Given the description of an element on the screen output the (x, y) to click on. 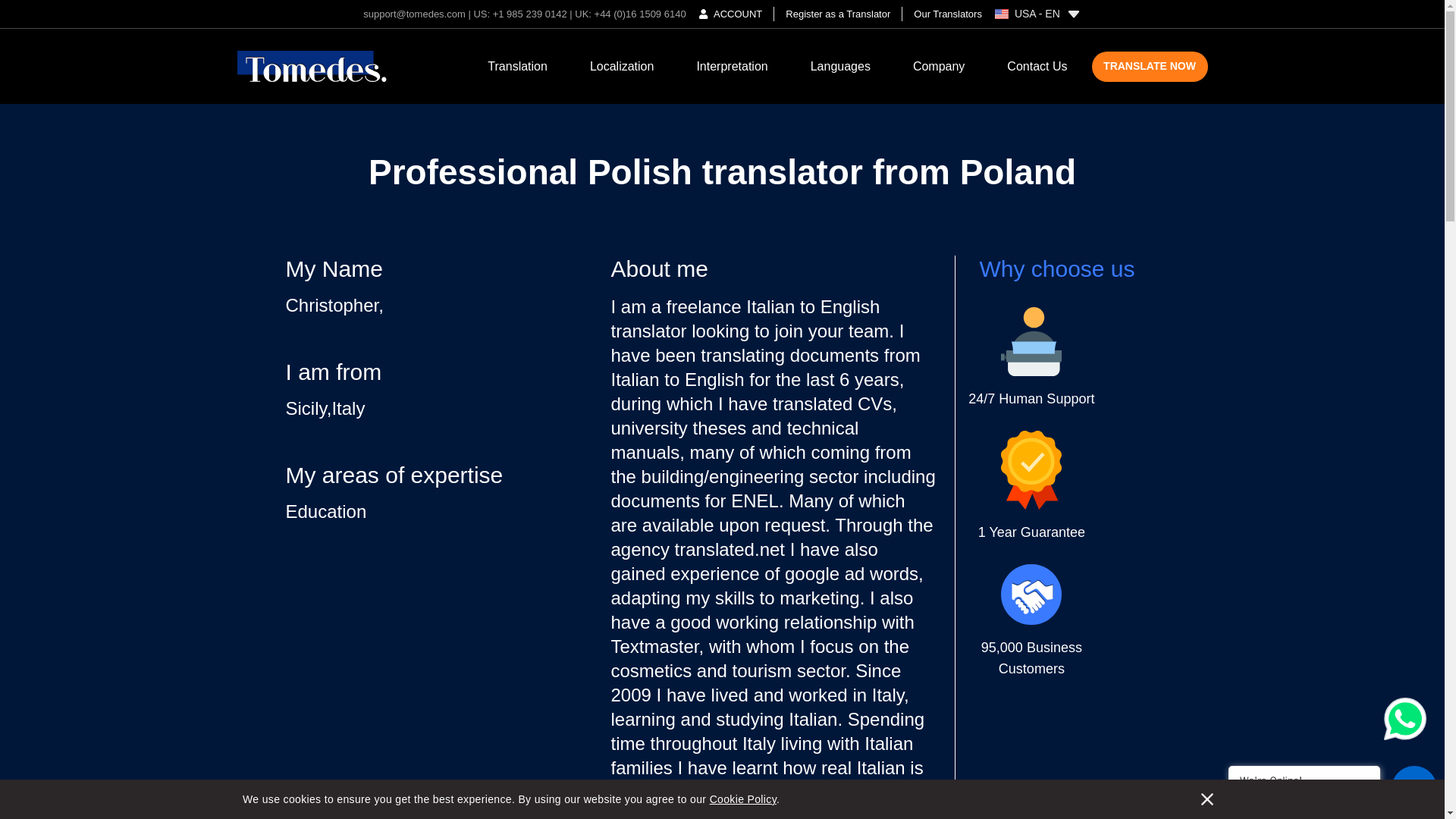
ACCOUNT (730, 14)
Localization (621, 65)
Our Translators (941, 14)
We're Online! (1304, 780)
How may I help you today? (1304, 796)
Interpretation (731, 65)
Register as a Translator (837, 14)
Translation (517, 65)
